Given the description of an element on the screen output the (x, y) to click on. 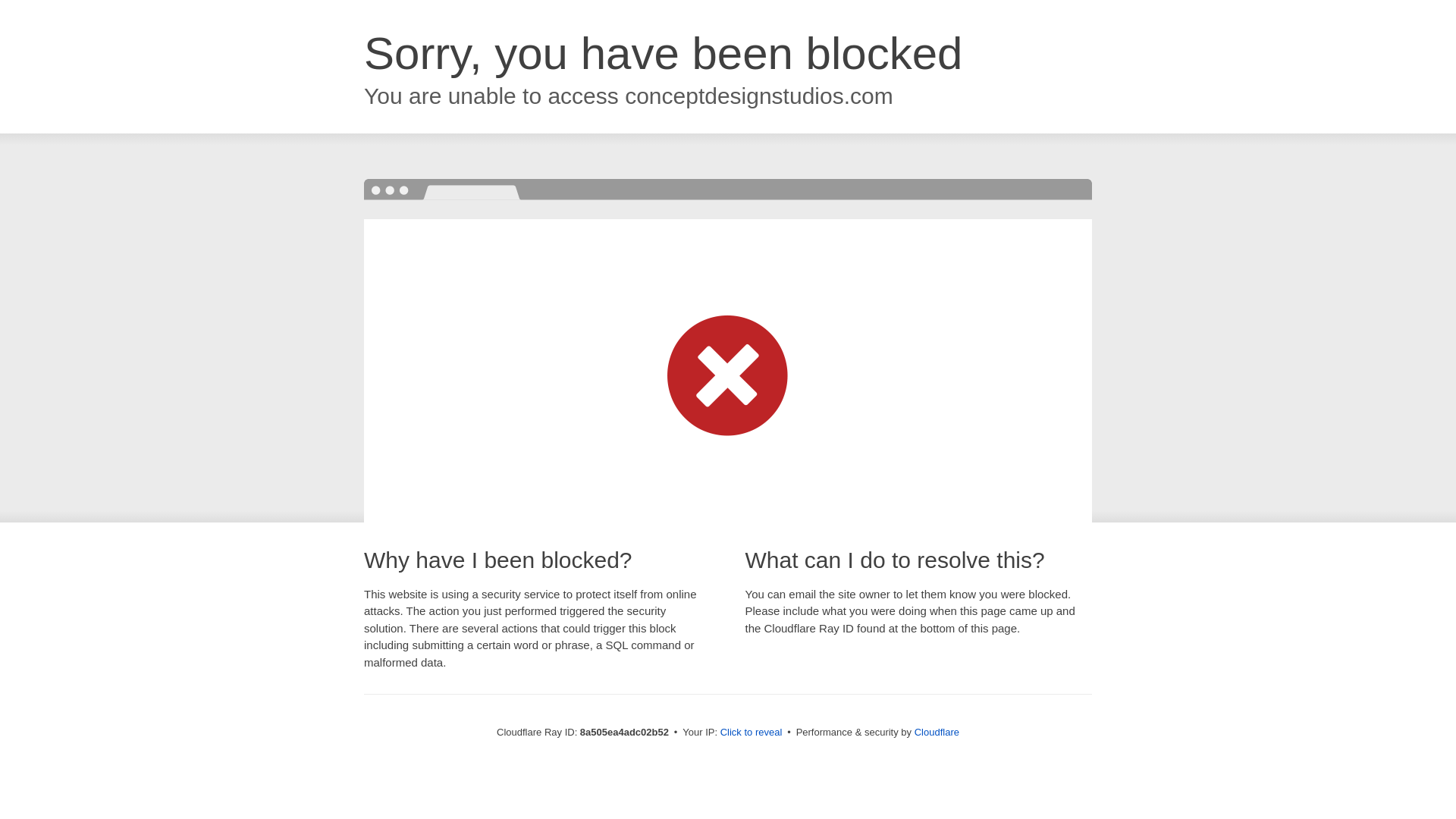
Cloudflare (936, 731)
Click to reveal (751, 732)
